Given the description of an element on the screen output the (x, y) to click on. 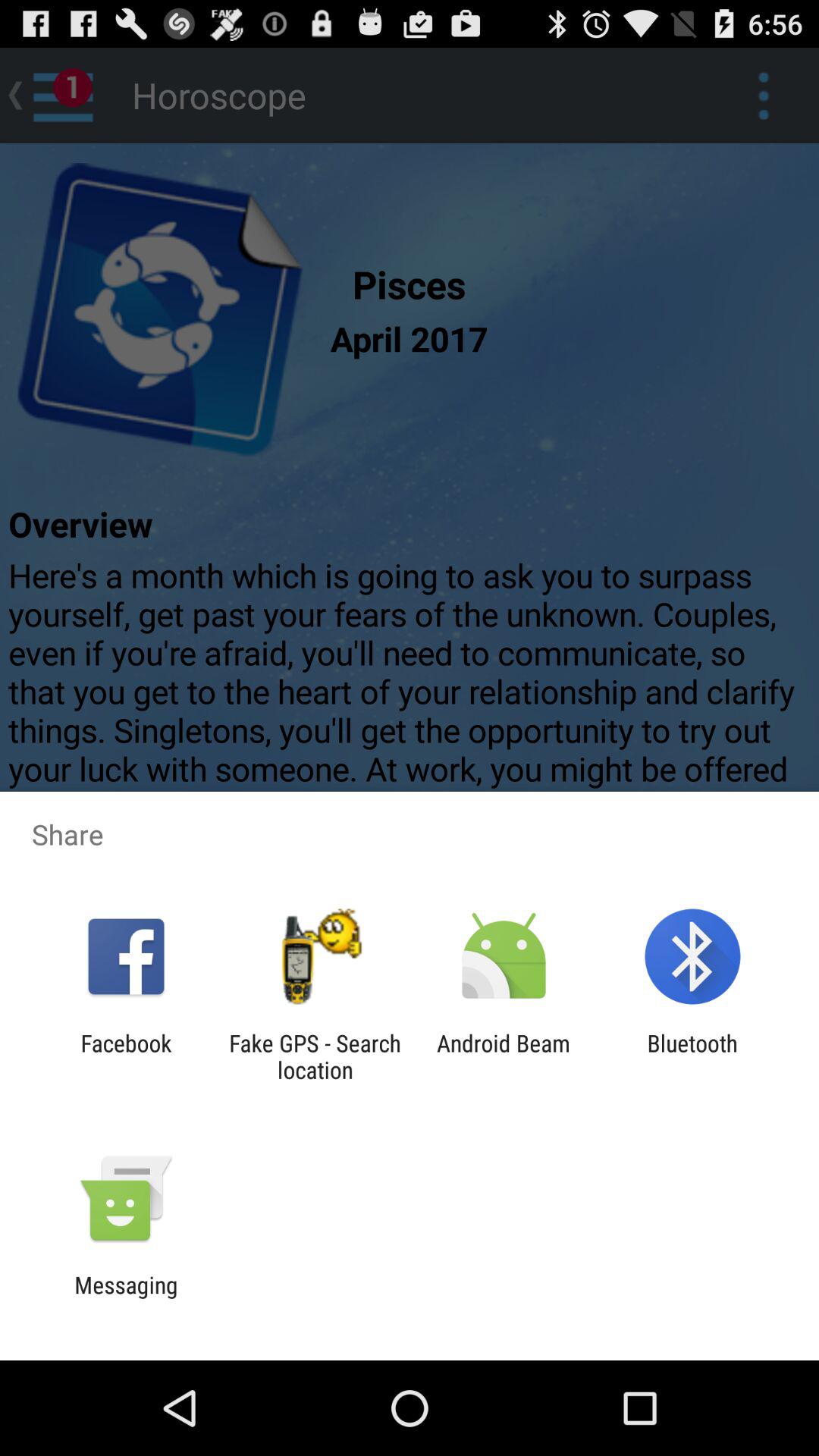
turn on the app next to android beam app (692, 1056)
